Given the description of an element on the screen output the (x, y) to click on. 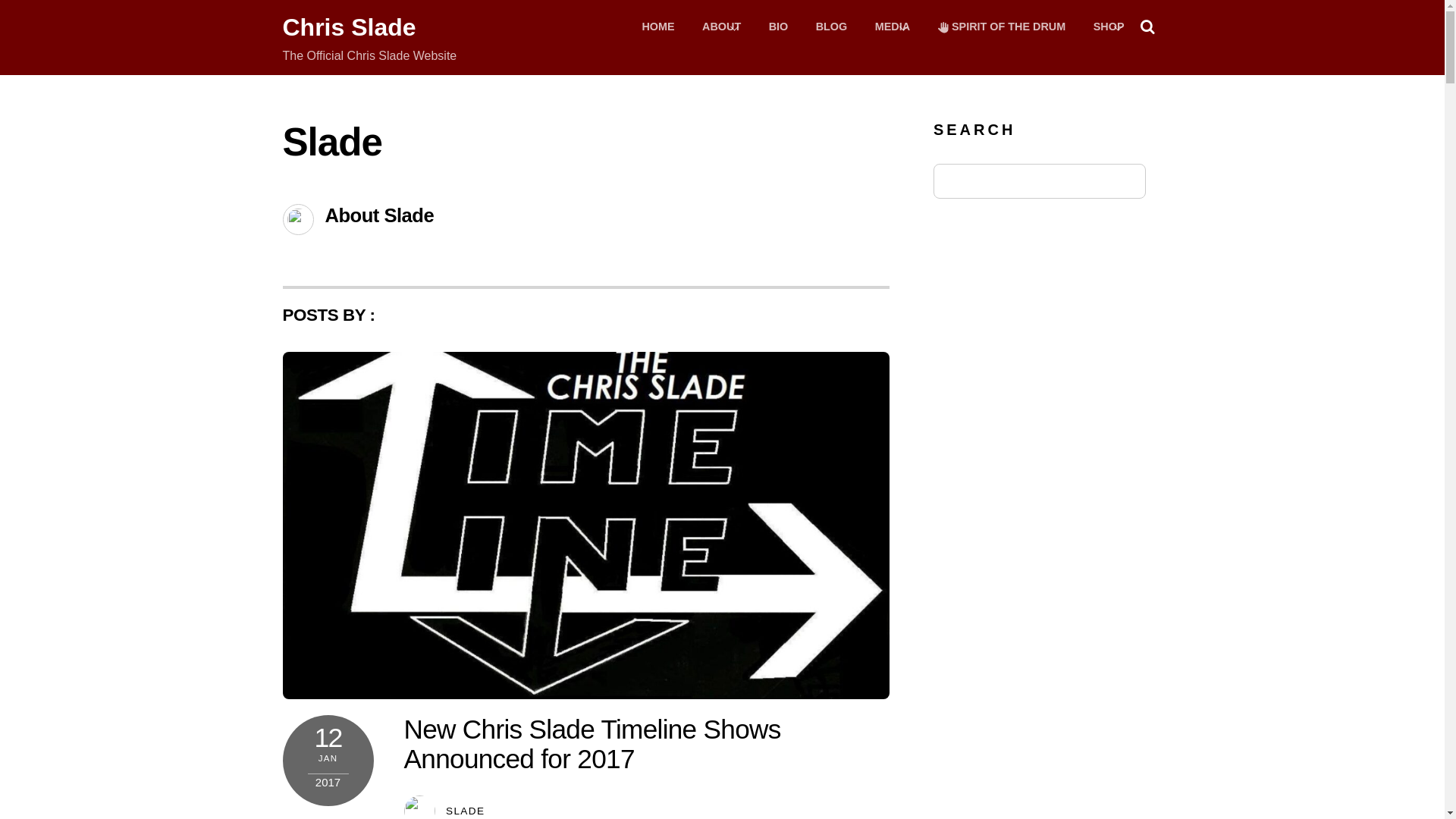
BIO (778, 26)
BLOG (831, 26)
ABOUT (721, 37)
SHOP (721, 26)
New Chris Slade Timeline Shows Announced for 2017 (1109, 26)
HOME (592, 743)
SLADE (656, 26)
SPIRIT OF THE DRUM (464, 810)
The Chris Slade Timeline (1002, 26)
MEDIA (348, 26)
Chris Slade (892, 26)
Search (348, 26)
